Given the description of an element on the screen output the (x, y) to click on. 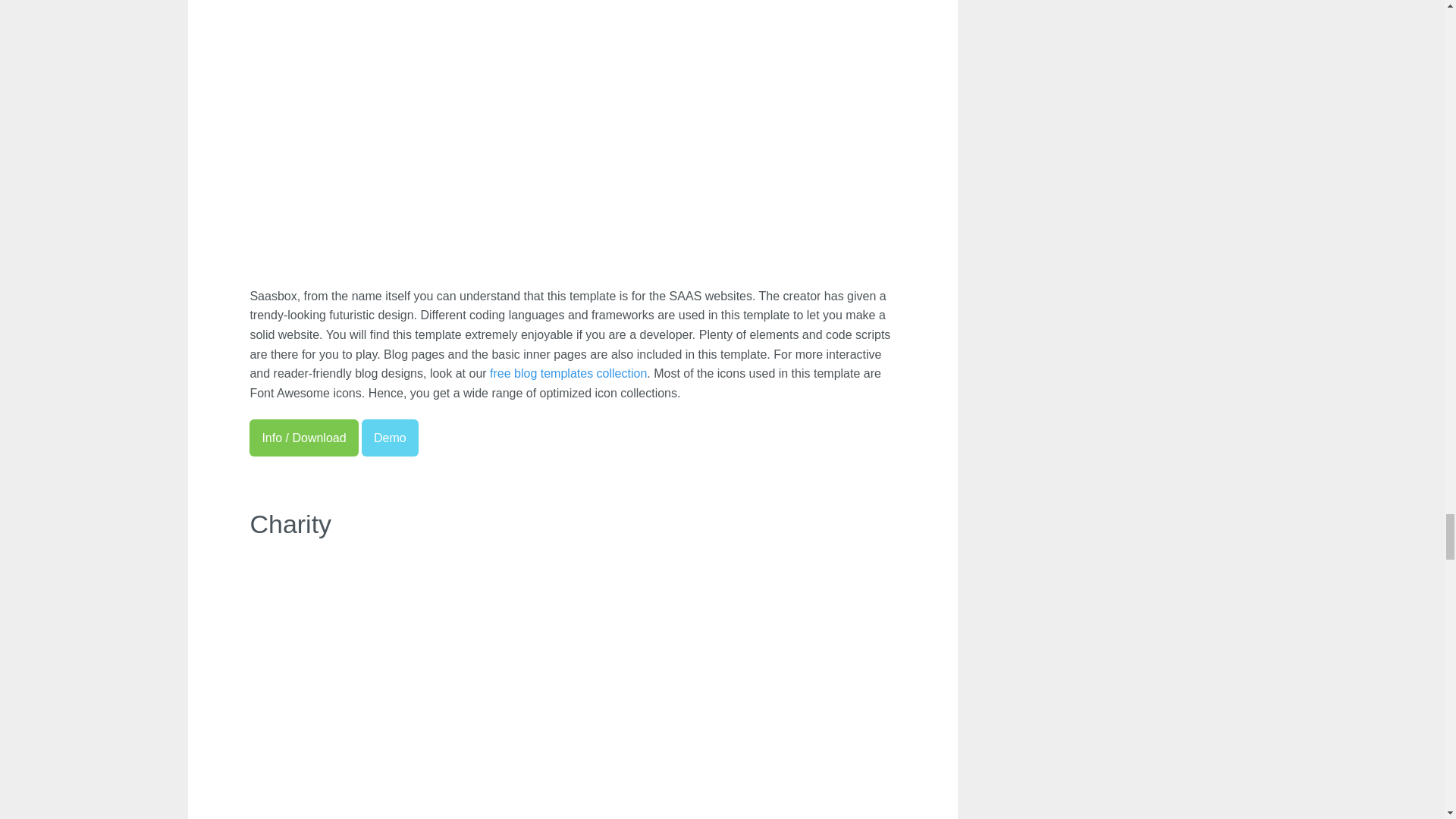
free blog templates collection (567, 373)
Demo (390, 438)
